Given the description of an element on the screen output the (x, y) to click on. 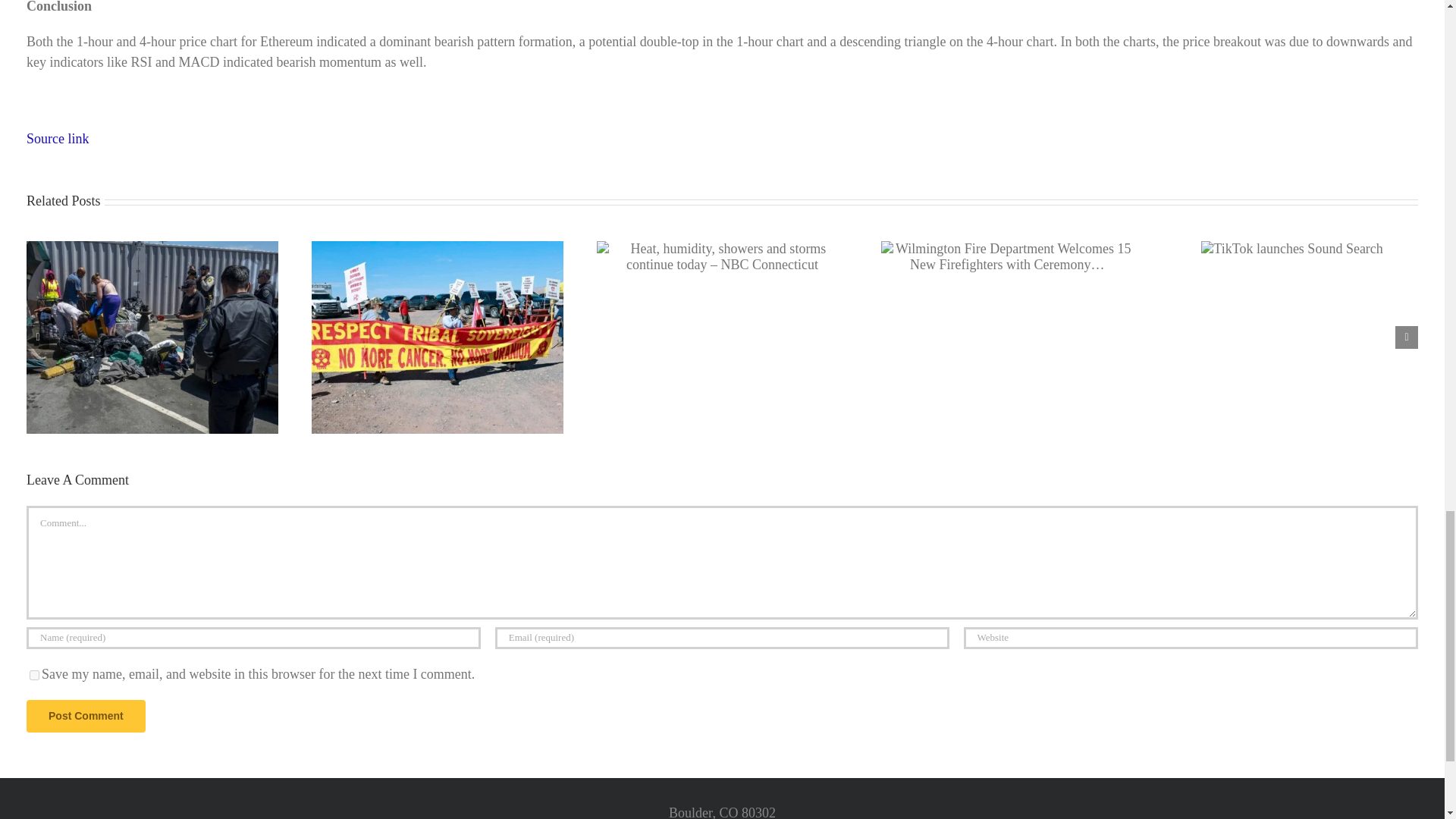
Post Comment (85, 716)
Source link (57, 138)
yes (34, 675)
